Given the description of an element on the screen output the (x, y) to click on. 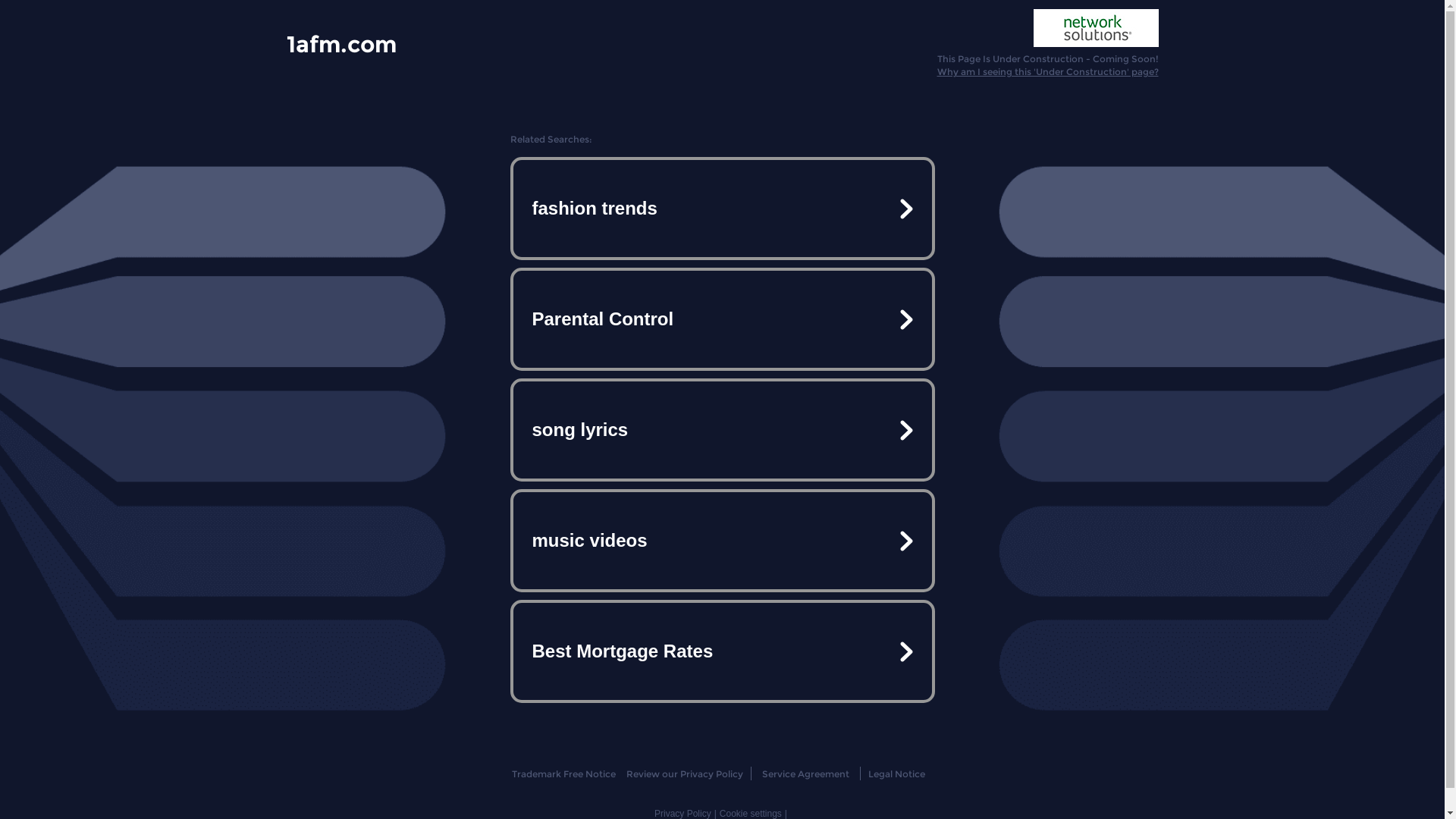
Review our Privacy Policy Element type: text (684, 773)
Trademark Free Notice Element type: text (563, 773)
song lyrics Element type: text (721, 429)
Why am I seeing this 'Under Construction' page? Element type: text (1047, 71)
music videos Element type: text (721, 540)
Service Agreement Element type: text (805, 773)
Legal Notice Element type: text (896, 773)
Best Mortgage Rates Element type: text (721, 650)
fashion trends Element type: text (721, 208)
Parental Control Element type: text (721, 318)
1afm.com Element type: text (341, 43)
